Given the description of an element on the screen output the (x, y) to click on. 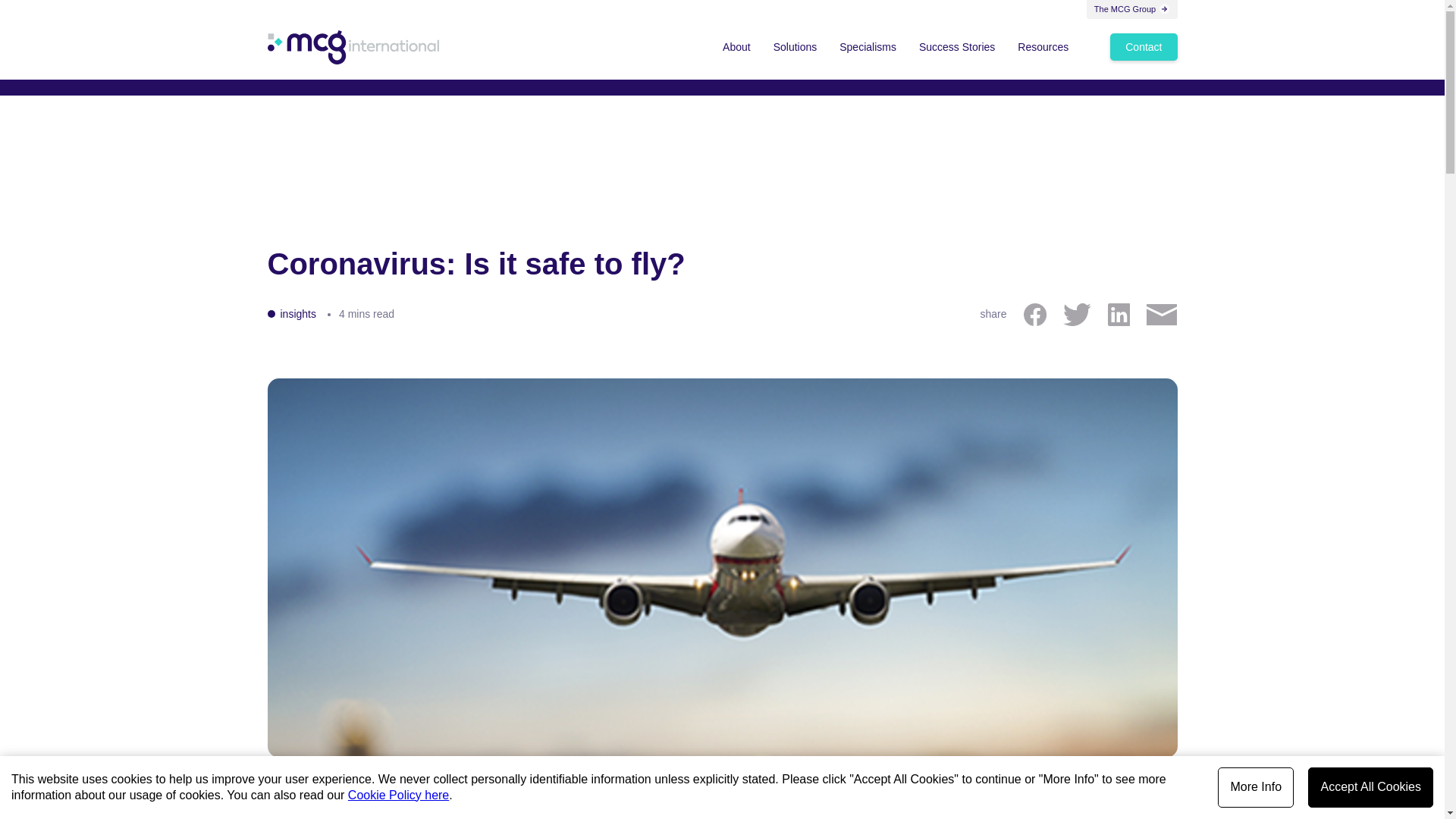
Cookie Policy (397, 794)
The MCG Group (1131, 9)
Success Stories (957, 46)
Specialisms (867, 46)
Resources (1042, 46)
About (736, 46)
Solutions (795, 46)
Contact (1142, 46)
